Given the description of an element on the screen output the (x, y) to click on. 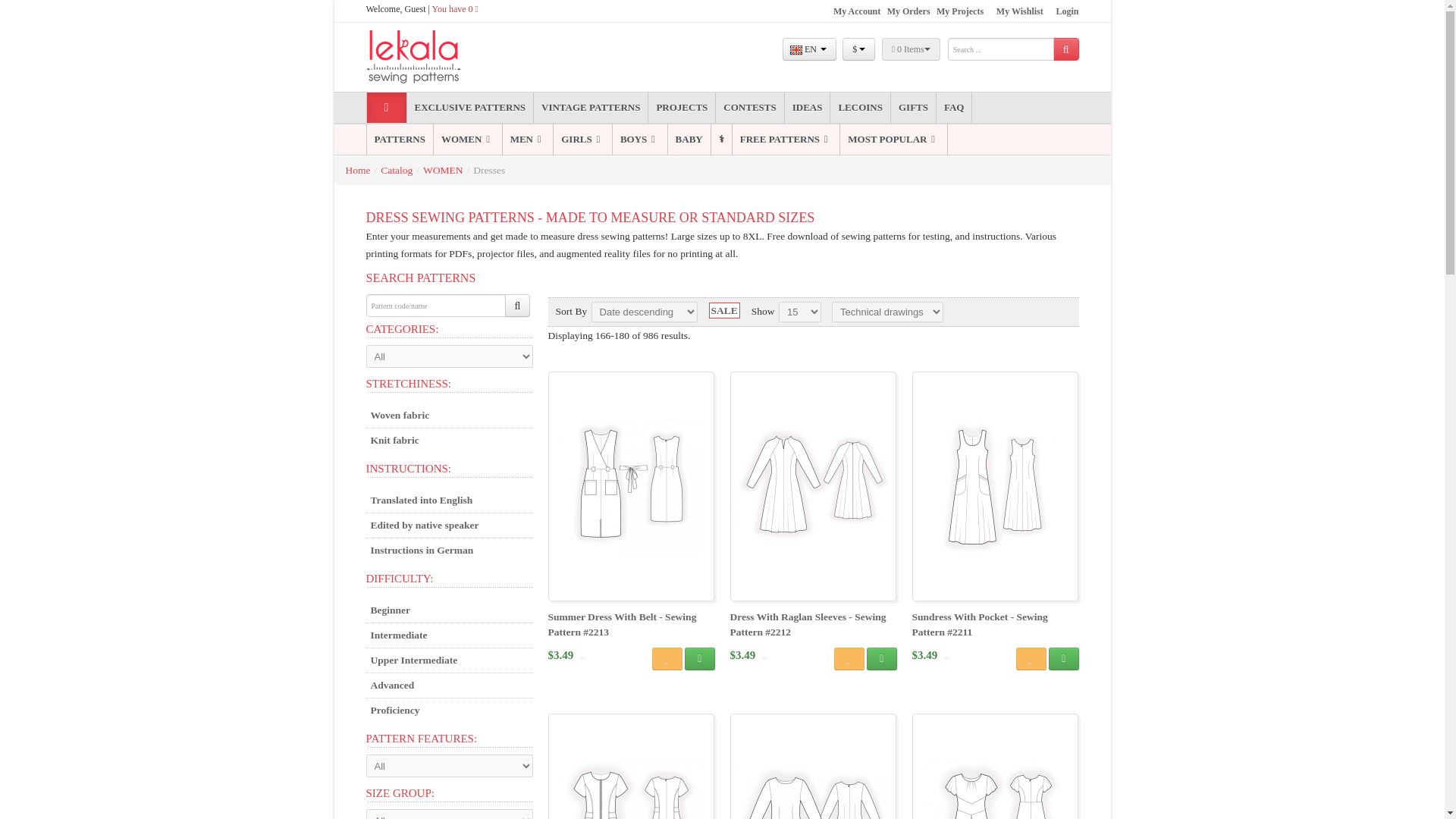
My Wishlist (1019, 10)
My Account (856, 10)
CONTESTS (749, 107)
Login (1066, 10)
LECOINS (859, 107)
My Orders (908, 10)
LEKALA SEWING PATTERNS (440, 57)
0 Items (911, 48)
PROJECTS (680, 107)
VINTAGE PATTERNS (590, 107)
